Given the description of an element on the screen output the (x, y) to click on. 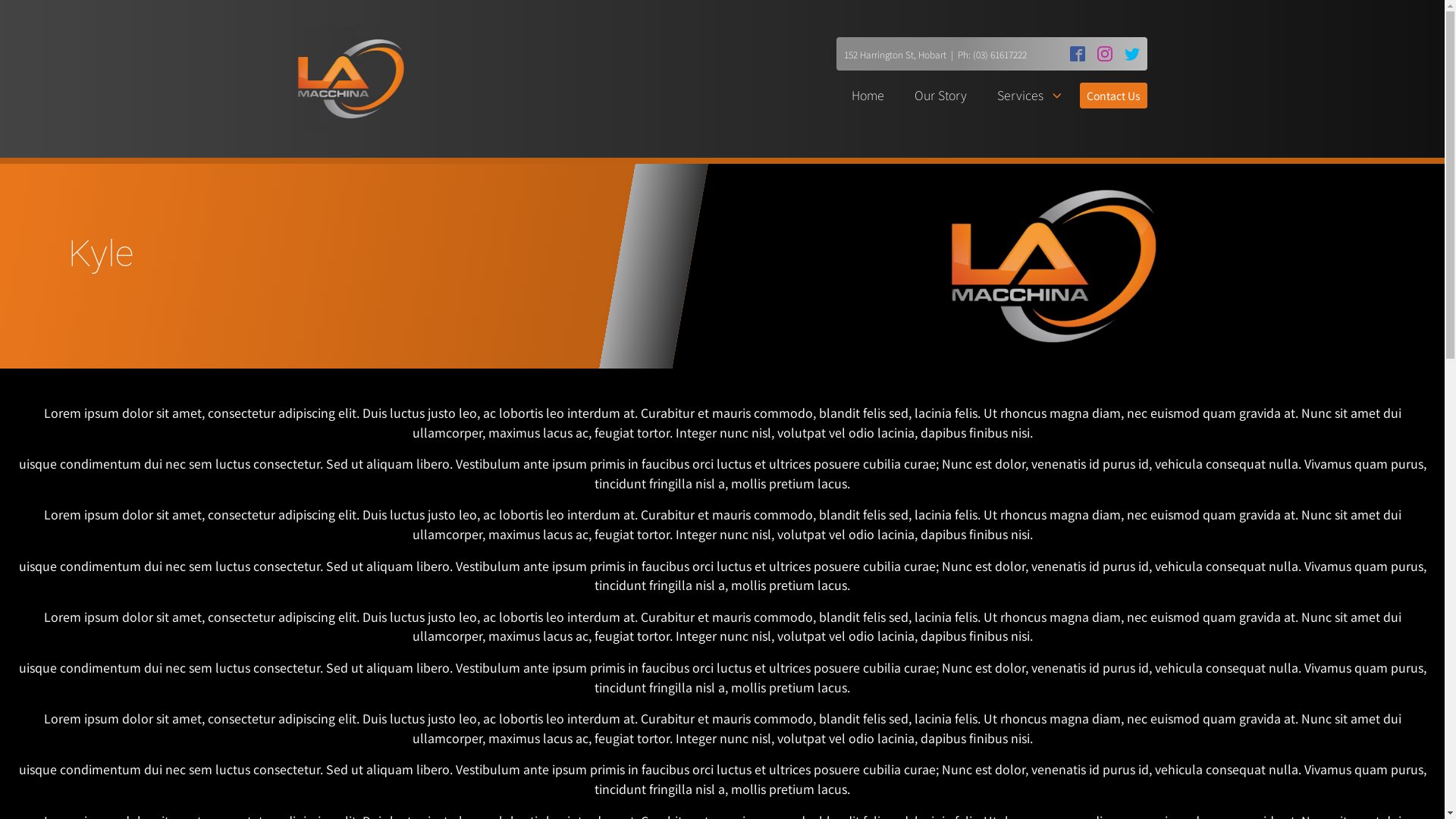
Home Element type: text (867, 95)
Our Story Element type: text (940, 95)
Contact Us Element type: text (1113, 95)
Services Element type: text (1030, 95)
